Given the description of an element on the screen output the (x, y) to click on. 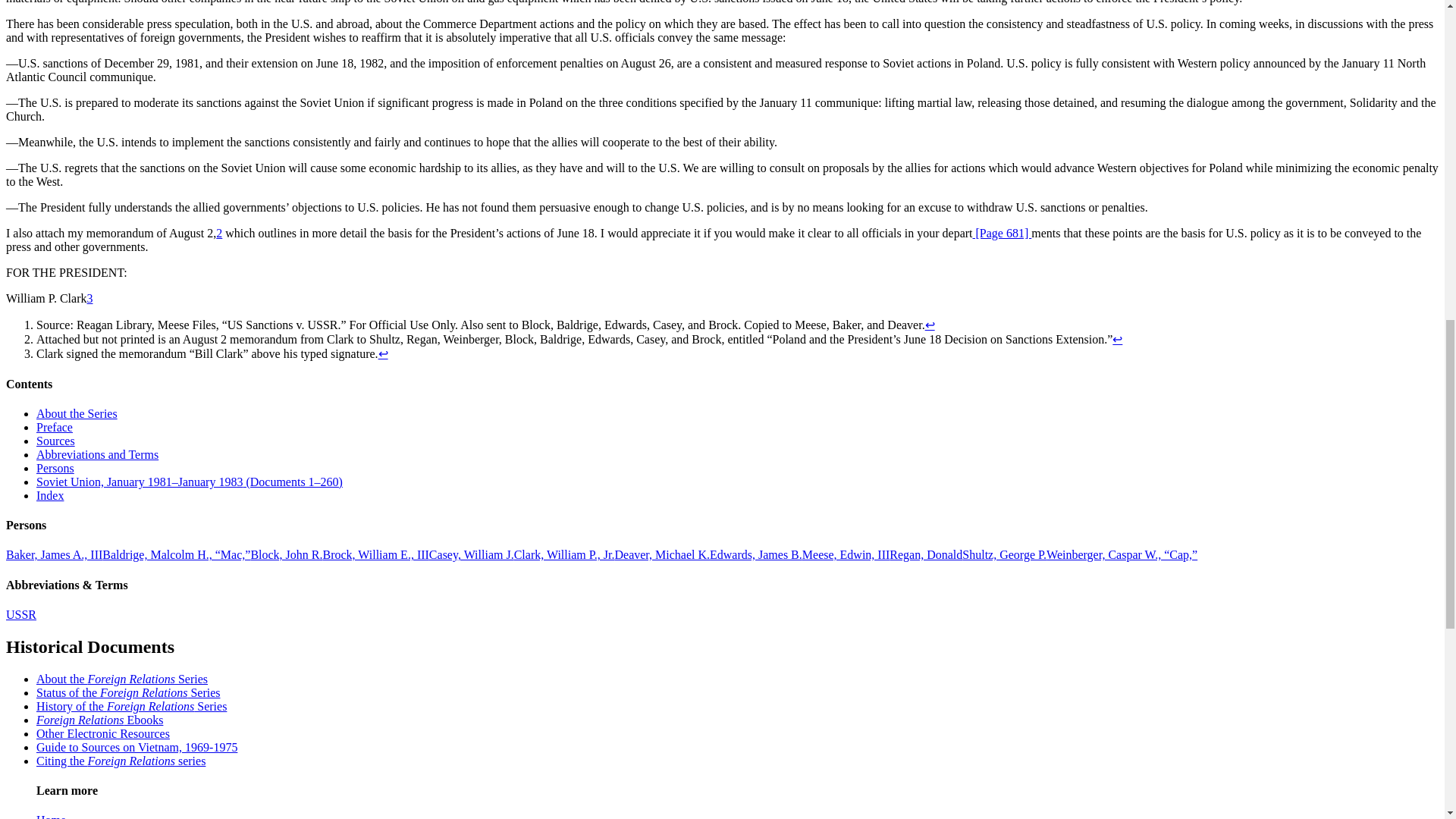
Secretary of State from July 16, 1982, to January 20, 1989 (1004, 554)
Counselor to the President from January 1981 (845, 554)
Secretary of Treasury from January 1981 (925, 554)
Director of Central Intelligence from January 28, 1981 (471, 554)
U.S. Trade Representative from January 1981 (376, 554)
Secretary of Energy (756, 554)
Deputy White House Chief of Staff from January 1981 (662, 554)
Secretary of Commerce (175, 554)
Secretary of Defense from January 21, 1981 (1121, 554)
Secretary of Agriculture (285, 554)
White House Chief of Staff (53, 554)
Union of Soviet Socialist Republics (20, 614)
